Given the description of an element on the screen output the (x, y) to click on. 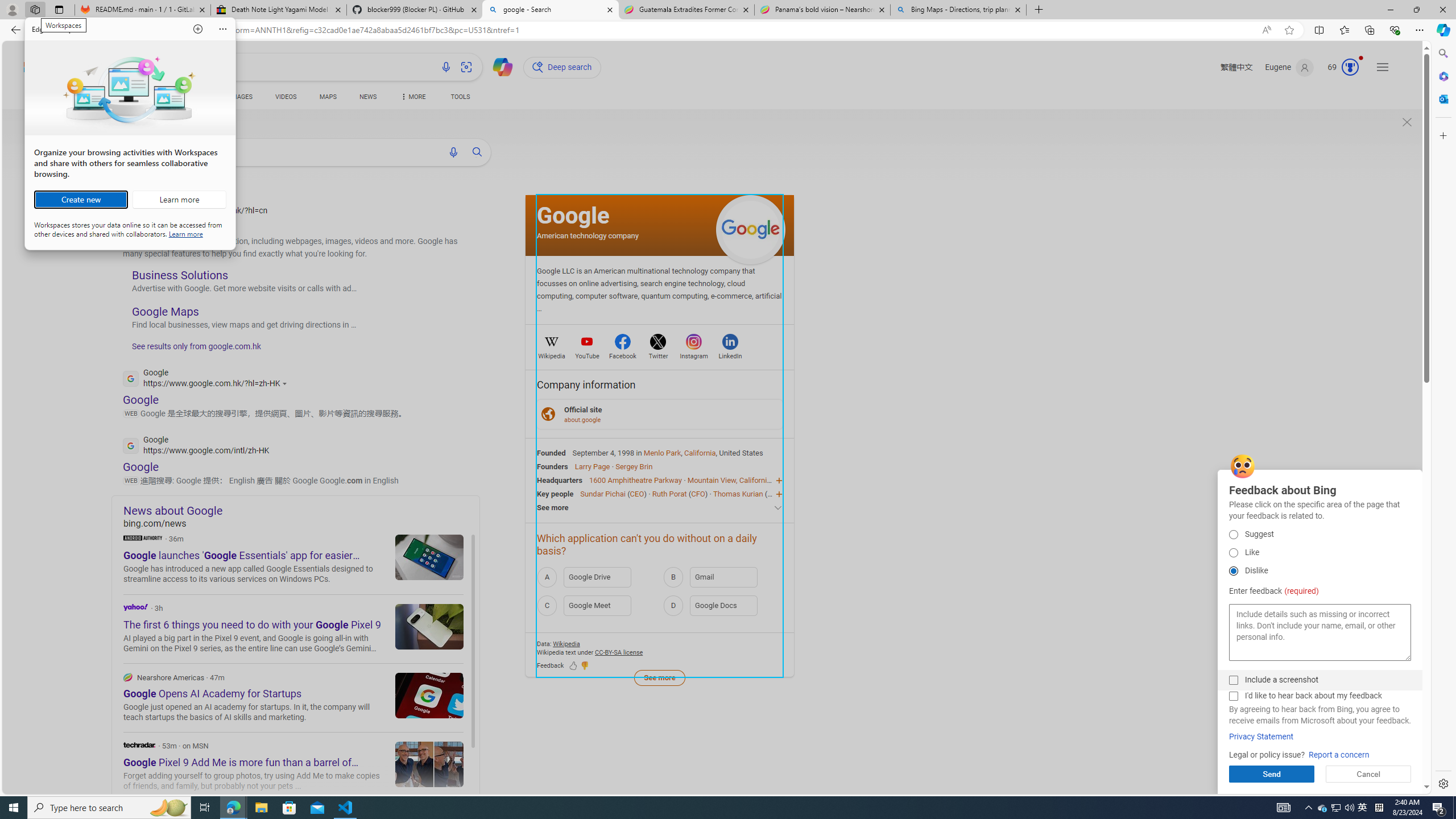
Include a screenshot (1232, 679)
Privacy Statement (1261, 737)
Suggest (1232, 533)
Running applications (1322, 807)
